Given the description of an element on the screen output the (x, y) to click on. 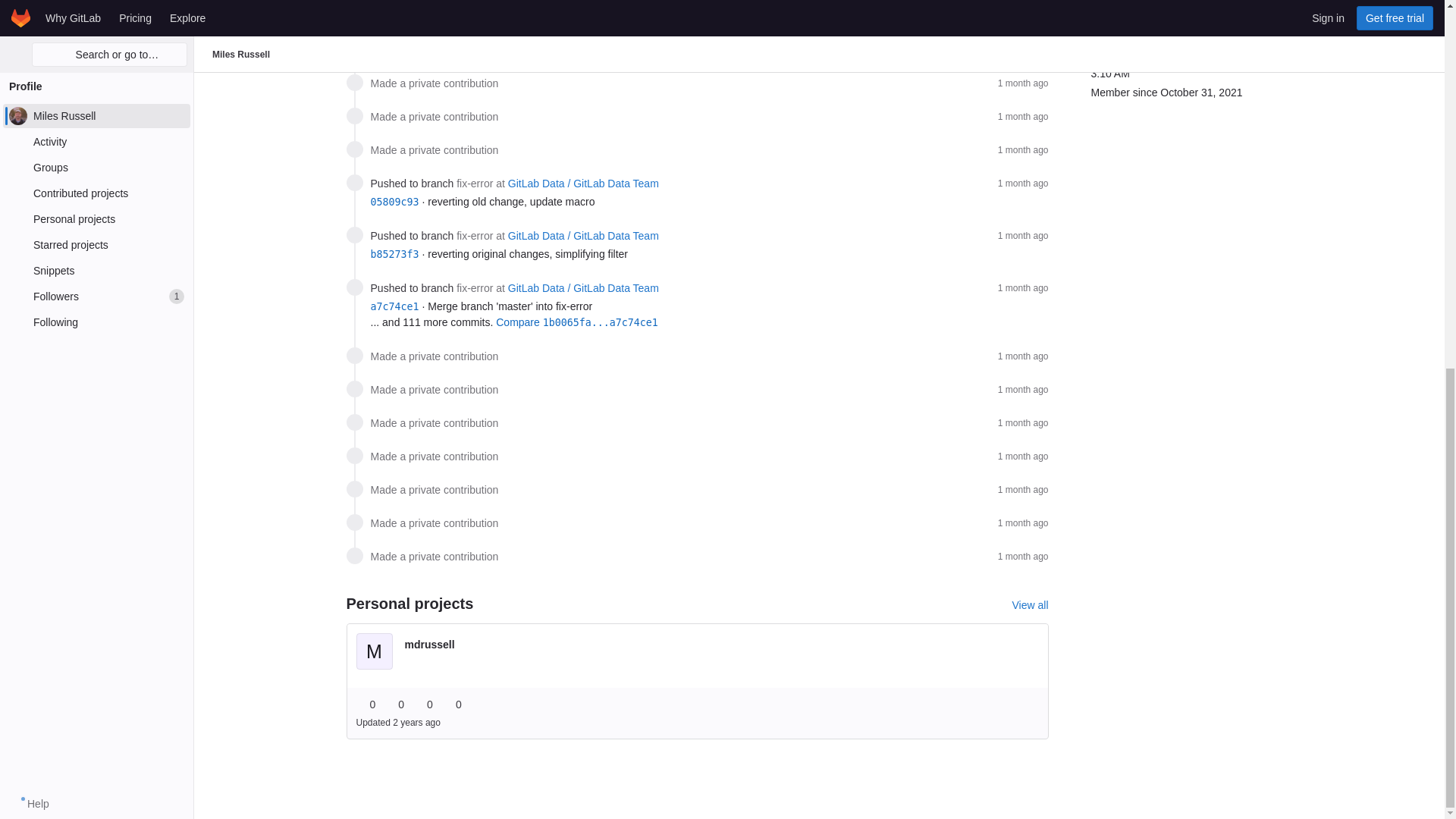
Help (30, 137)
